Given the description of an element on the screen output the (x, y) to click on. 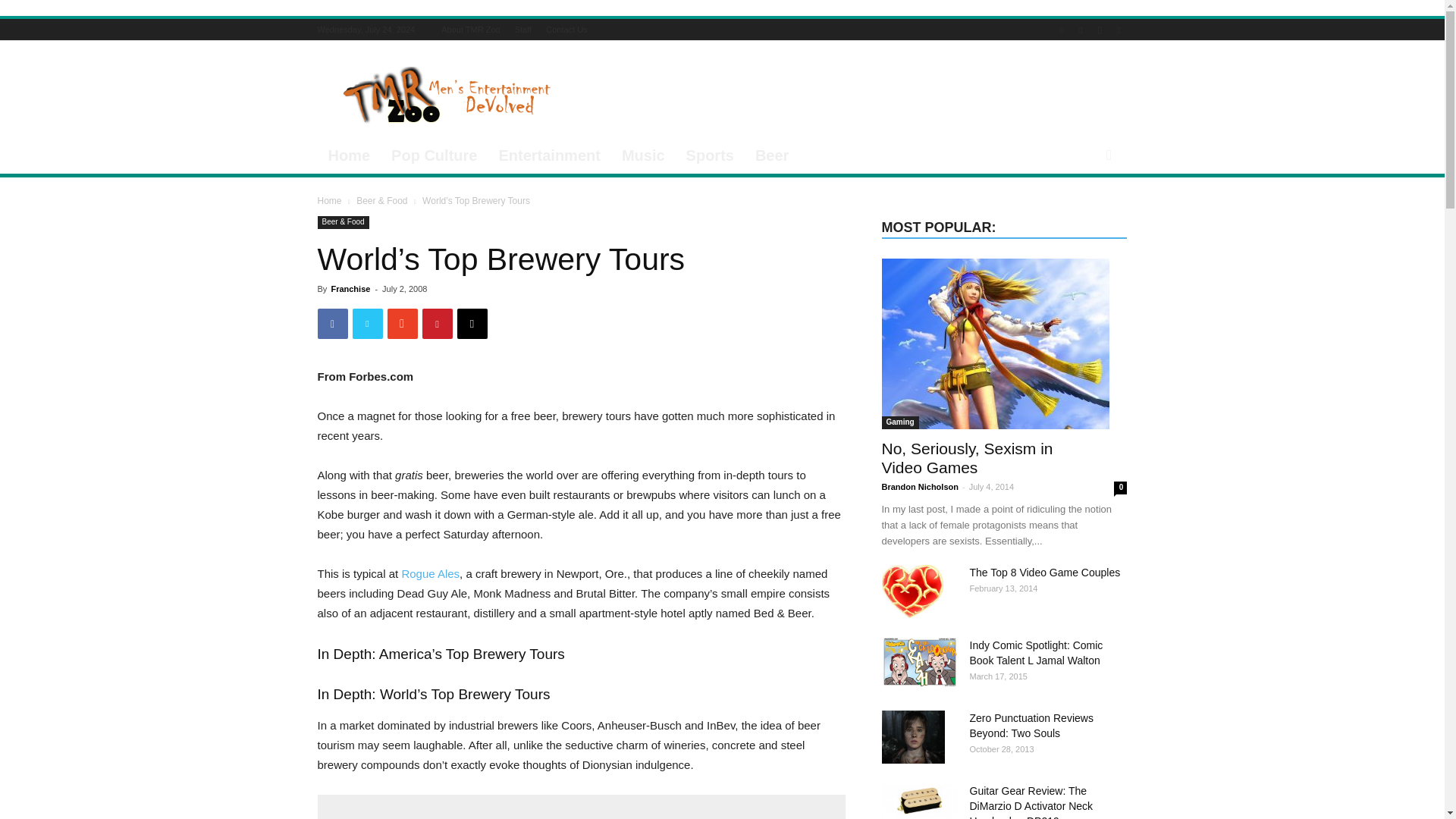
The Top 8 Video Game Couples (911, 591)
Entertainment (548, 155)
Sports (709, 155)
Search (1083, 215)
TMR Zoo Staff (523, 29)
Contact Us (566, 29)
Facebook (1061, 29)
Instagram (1099, 29)
Home (348, 155)
About TMR Zoo (470, 29)
Music (643, 155)
Staff (523, 29)
